Given the description of an element on the screen output the (x, y) to click on. 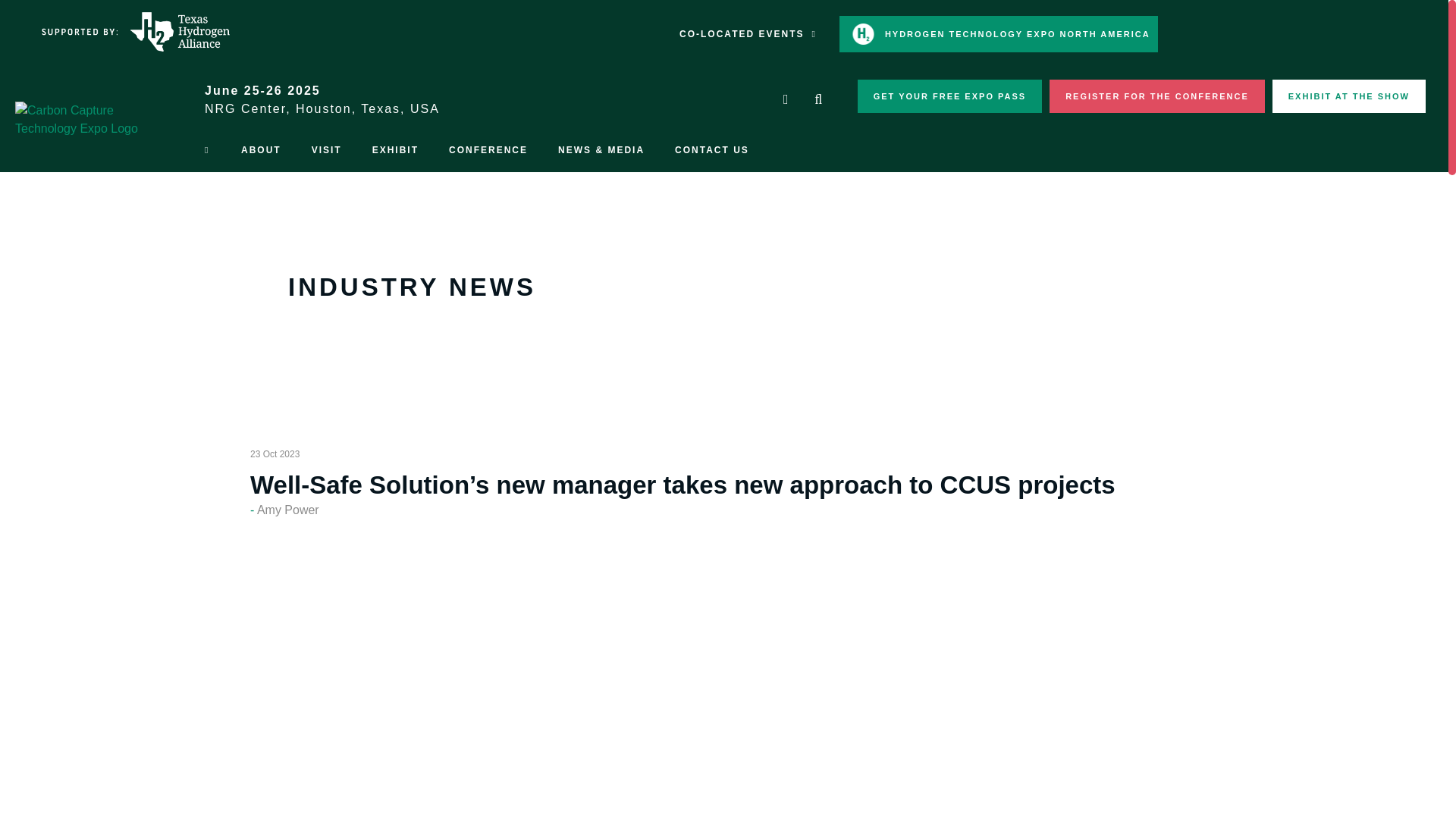
attribution-tracking (1157, 96)
EXHIBIT AT THE SHOW (1348, 96)
LinkedIn (786, 99)
REGISTER FOR THE CONFERENCE (1157, 96)
why-exhibit (1348, 96)
HOME (207, 149)
HOME (207, 151)
GET YOUR FREE EXPO PASS (949, 96)
VISIT (326, 151)
Search (818, 99)
CONTACT US (711, 149)
attribution-tracking (949, 96)
HYDROGEN TECHNOLOGY EXPO NORTH AMERICA (998, 33)
EXHIBIT (394, 151)
ABOUT (261, 151)
